Given the description of an element on the screen output the (x, y) to click on. 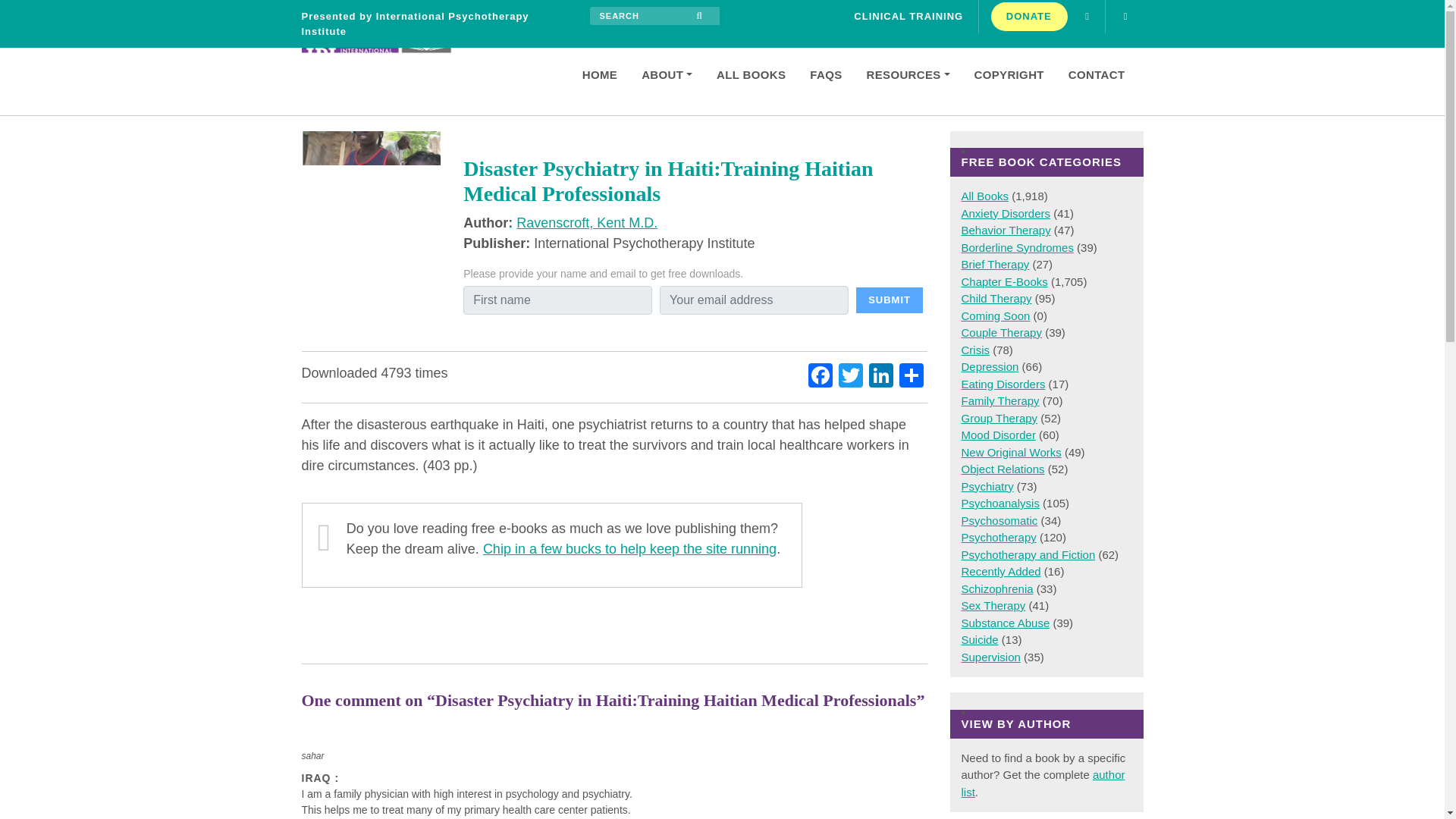
Fundamental Works (989, 366)
CLINICAL TRAINING (907, 16)
FAQS (819, 75)
ABOUT (660, 75)
DONATE (1028, 16)
HOME (593, 75)
ALL BOOKS (745, 75)
LinkedIn (881, 377)
IPI E-Books (398, 59)
Facebook (820, 377)
